Given the description of an element on the screen output the (x, y) to click on. 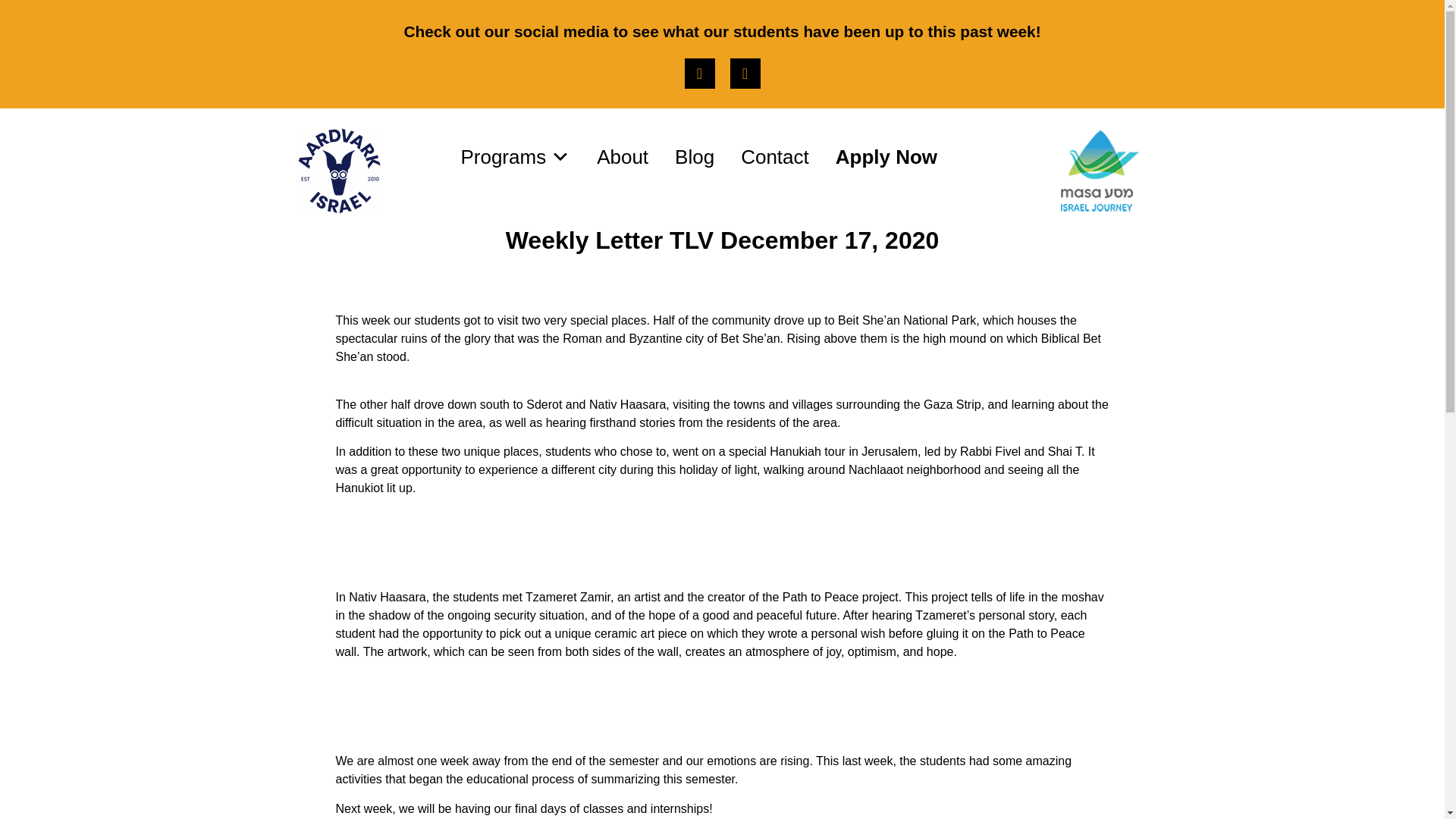
Programs (515, 156)
Contact (774, 156)
Apply Now (886, 156)
